Given the description of an element on the screen output the (x, y) to click on. 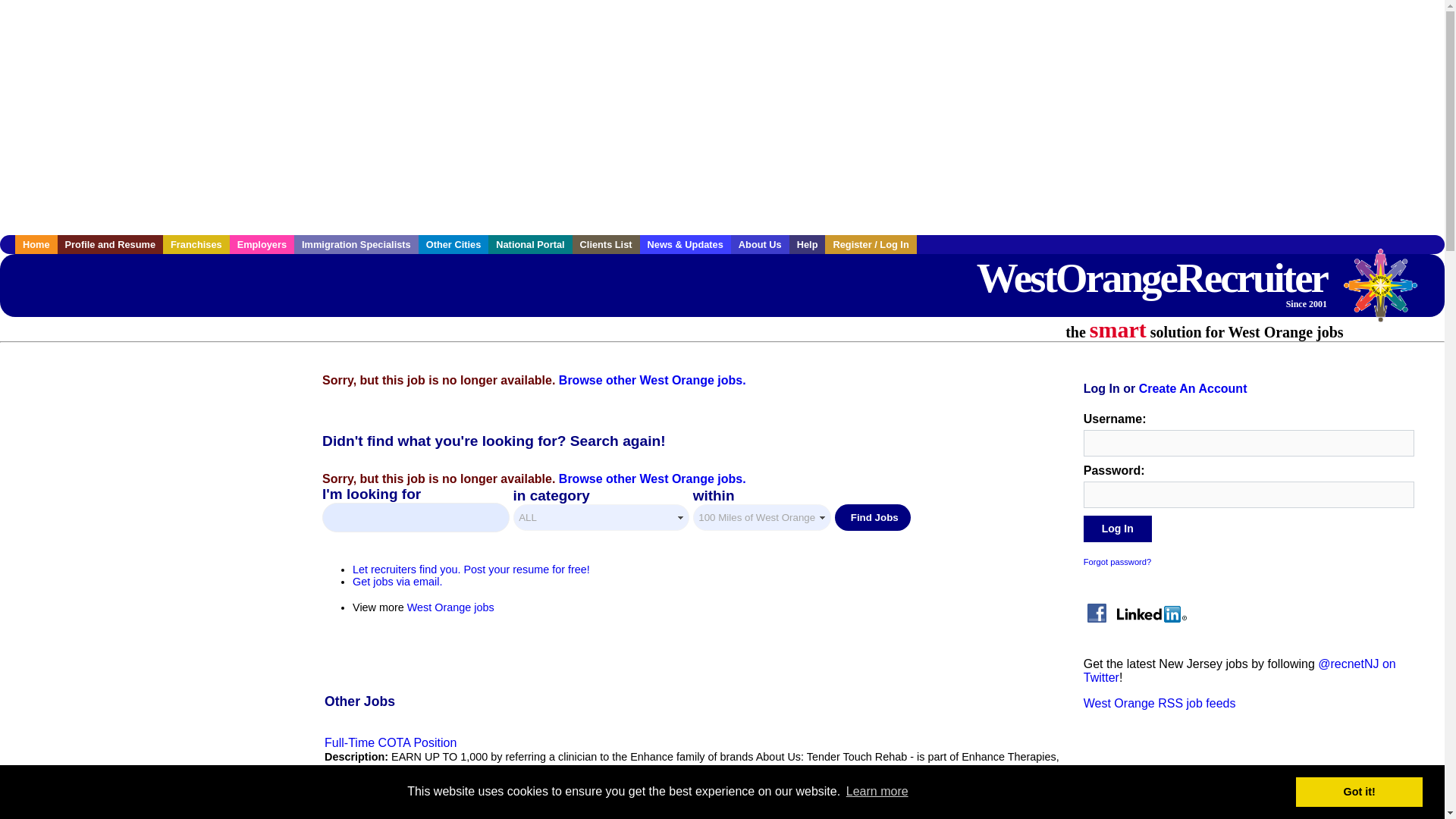
Get  jobs via email (397, 581)
Learn more (877, 791)
Get jobs via email. (397, 581)
Employers (262, 244)
Franchises (196, 244)
Clients List (606, 244)
West Orange Immigration Specialists (356, 244)
About Us (759, 244)
Immigration Specialists (356, 244)
More West Orange  jobs (451, 607)
Let recruiters find you. Post your resume for free! (470, 569)
Other Cities (454, 244)
Post your  resume for free! (470, 569)
Recruiter Networks (1387, 292)
